Given the description of an element on the screen output the (x, y) to click on. 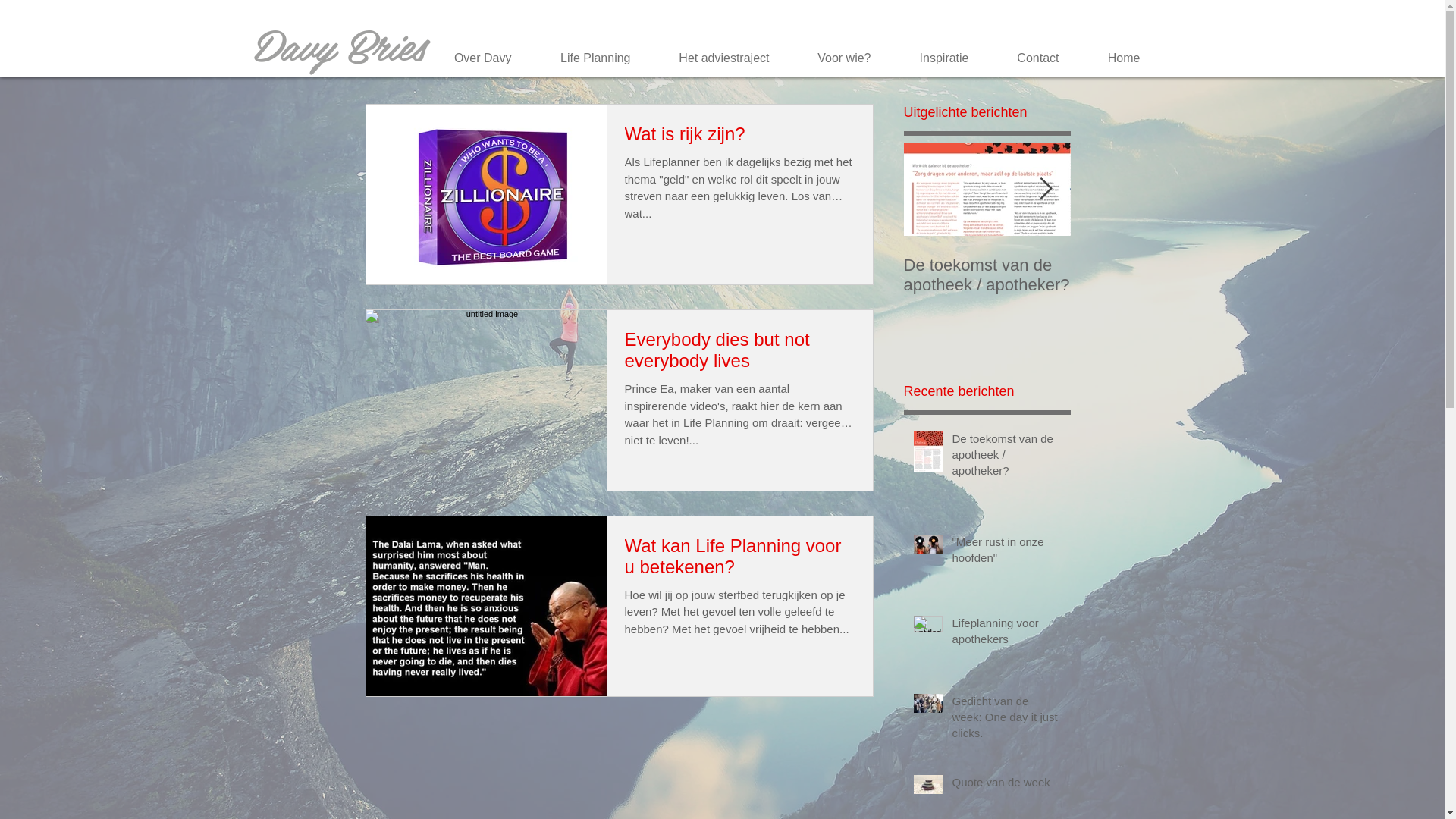
Over Davy Element type: text (473, 58)
Inspiratie Element type: text (934, 58)
Home Element type: text (1113, 58)
De toekomst van de apotheek / apotheker? Element type: text (986, 274)
Het adviestraject Element type: text (715, 58)
Wat is Life Planning nu eigenlijk? Element type: text (1320, 274)
Quote van de week Element type: text (1006, 785)
"Meer rust in onze hoofden" Element type: text (1153, 274)
Voor wie? Element type: text (834, 58)
Contact Element type: text (1029, 58)
De toekomst van de apotheek / apotheker? Element type: text (1006, 457)
Wat is rijk zijn? Element type: text (739, 137)
Gedicht van de week: One day it just clicks. Element type: text (1006, 719)
"Meer rust in onze hoofden" Element type: text (1006, 552)
Lifeplanning voor apothekers Element type: text (1006, 633)
Wat kan Life Planning voor u betekenen? Element type: text (739, 559)
Everybody dies but not everybody lives Element type: text (739, 354)
Life Planning Element type: text (585, 58)
